Given the description of an element on the screen output the (x, y) to click on. 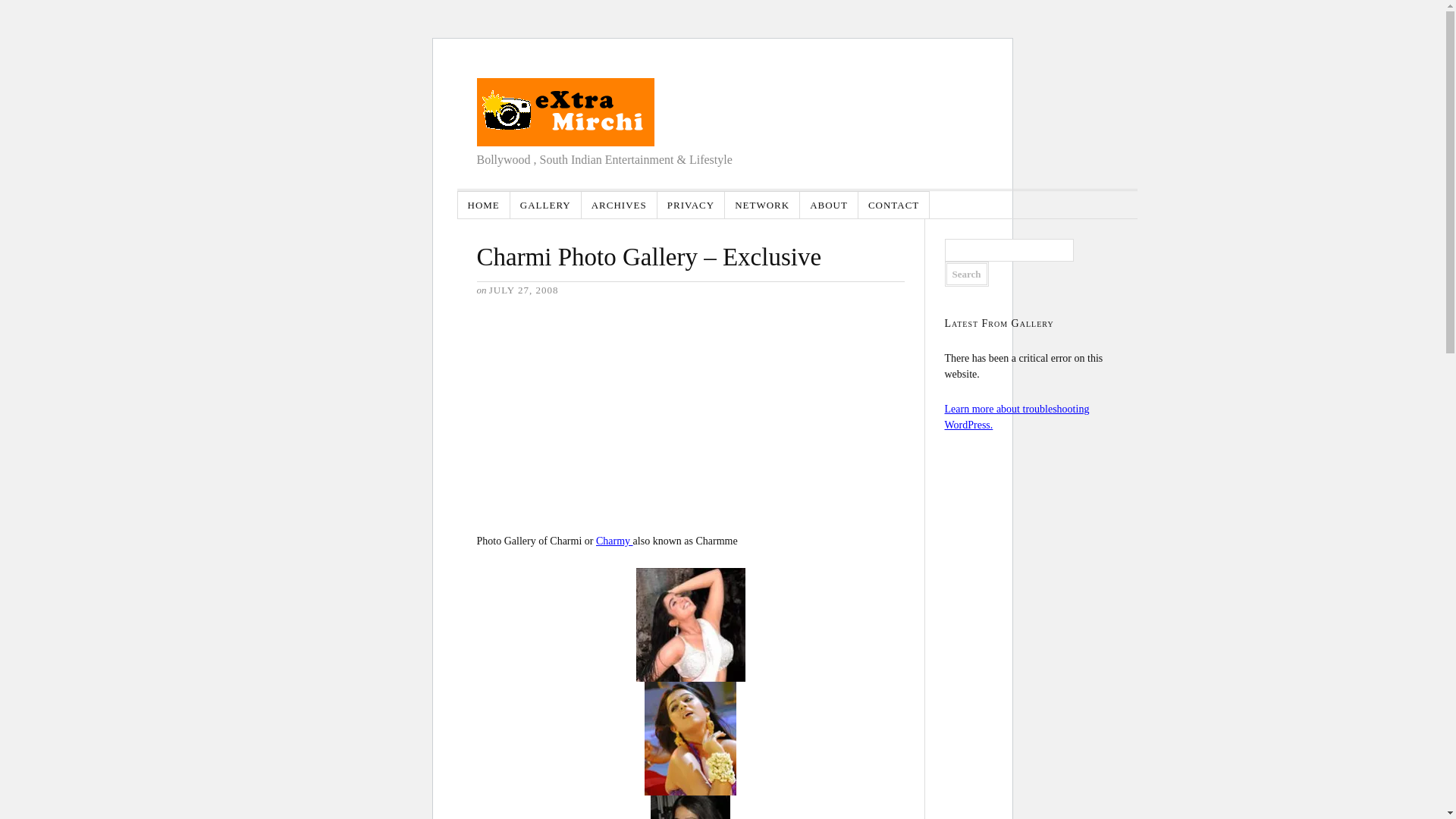
ARCHIVES (619, 204)
Advertisement (589, 412)
HOME (484, 204)
2008-07-27 (524, 289)
GALLERY (545, 204)
Charmy (614, 541)
visit the home page (564, 111)
